Given the description of an element on the screen output the (x, y) to click on. 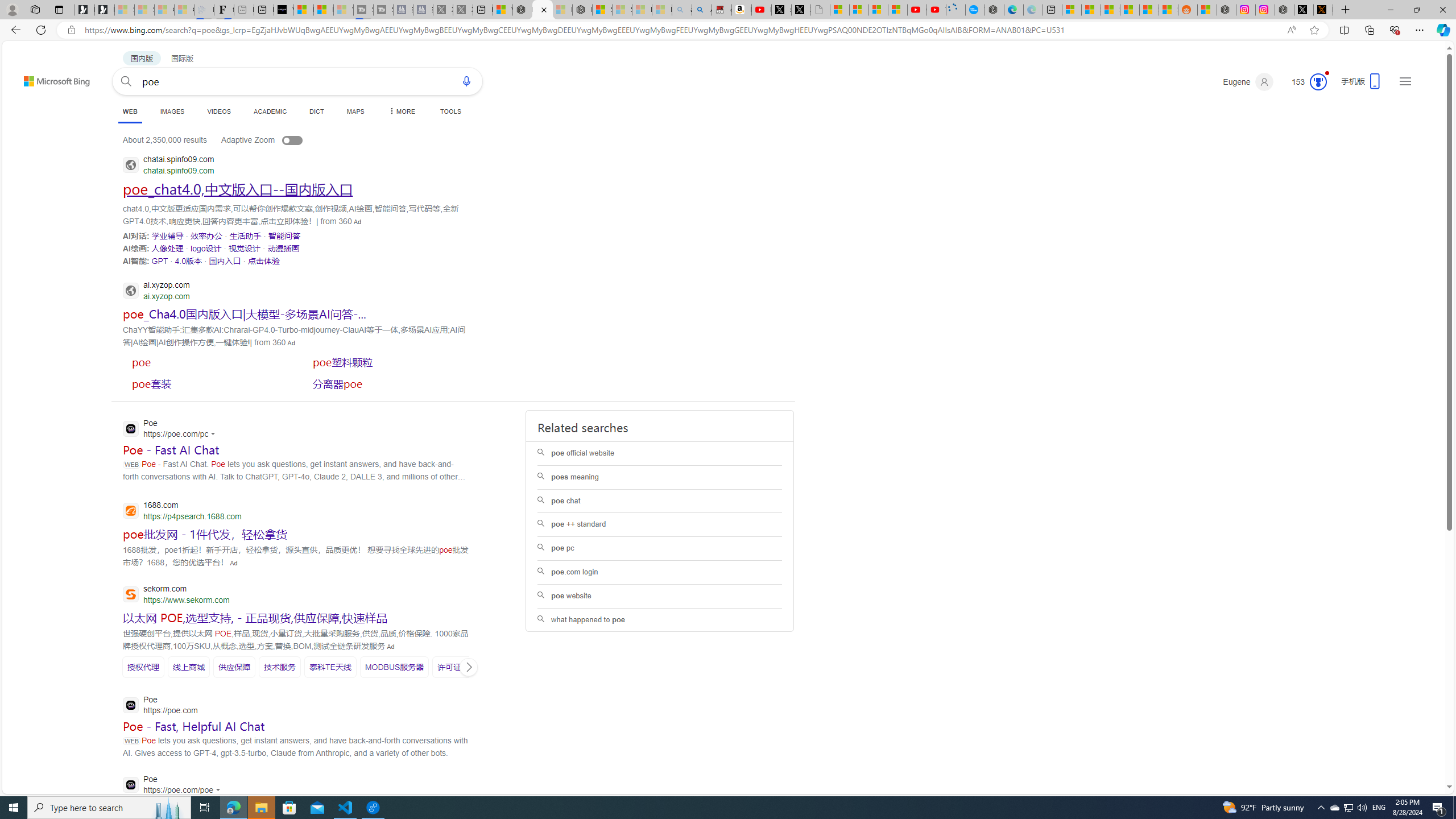
SERP,5599 (329, 667)
The most popular Google 'how to' searches (975, 9)
TOOLS (450, 111)
VIDEOS (218, 111)
Class: outer-circle-animation (1317, 81)
SERP,5592 (254, 617)
Microsoft Rewards 150 (1304, 81)
Back (13, 29)
Settings and quick links (1404, 80)
VIDEOS (218, 111)
